Given the description of an element on the screen output the (x, y) to click on. 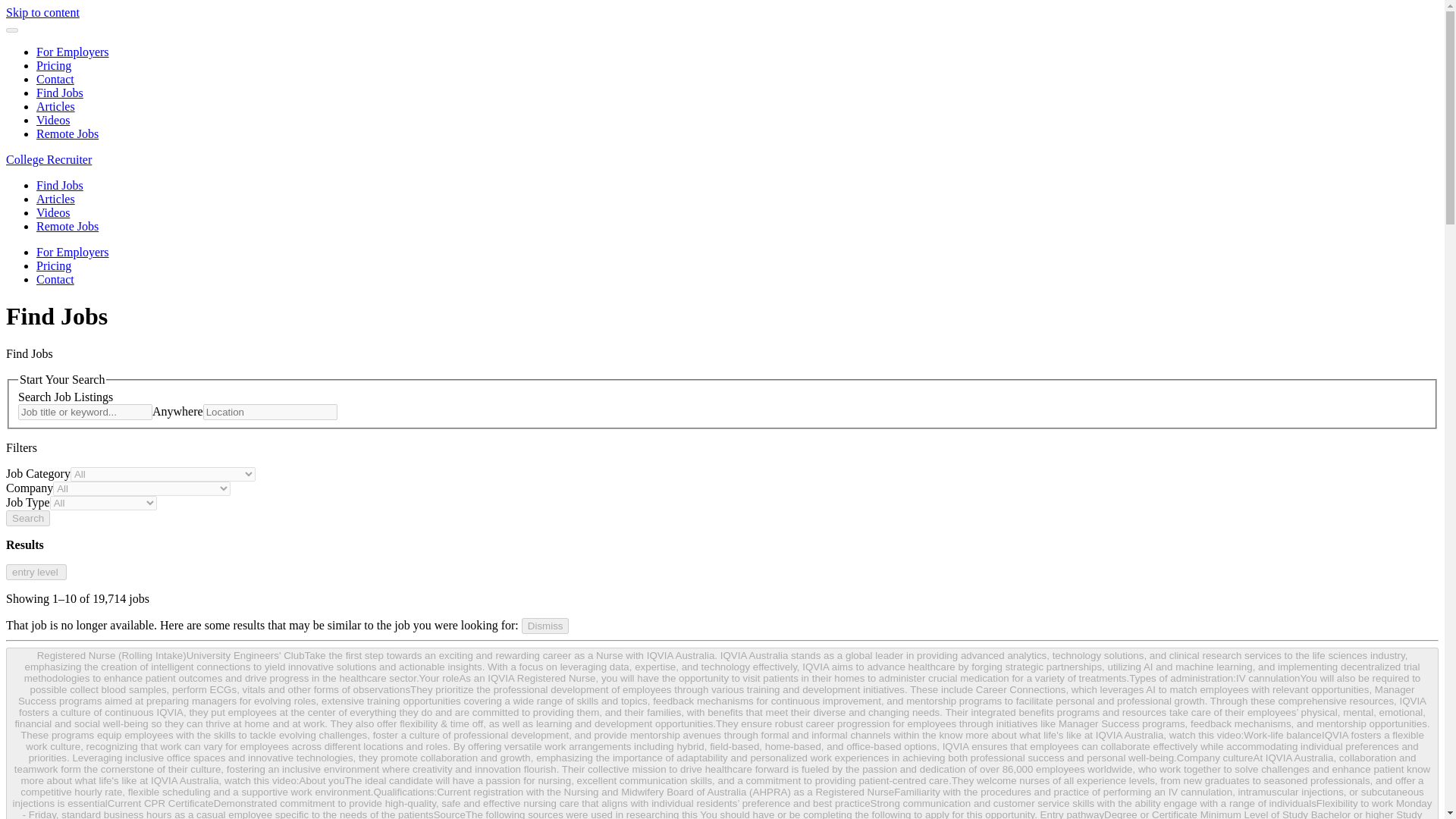
College Recruiter (48, 159)
Search (27, 518)
Contact (55, 78)
Videos (52, 119)
Search (27, 518)
For Employers (72, 251)
Pricing (53, 265)
Articles (55, 106)
Contact (55, 278)
Remote Jobs (67, 226)
Remote Jobs (67, 133)
Find Jobs (59, 185)
Videos (52, 212)
Pricing (53, 65)
Skip to content (42, 11)
